Given the description of an element on the screen output the (x, y) to click on. 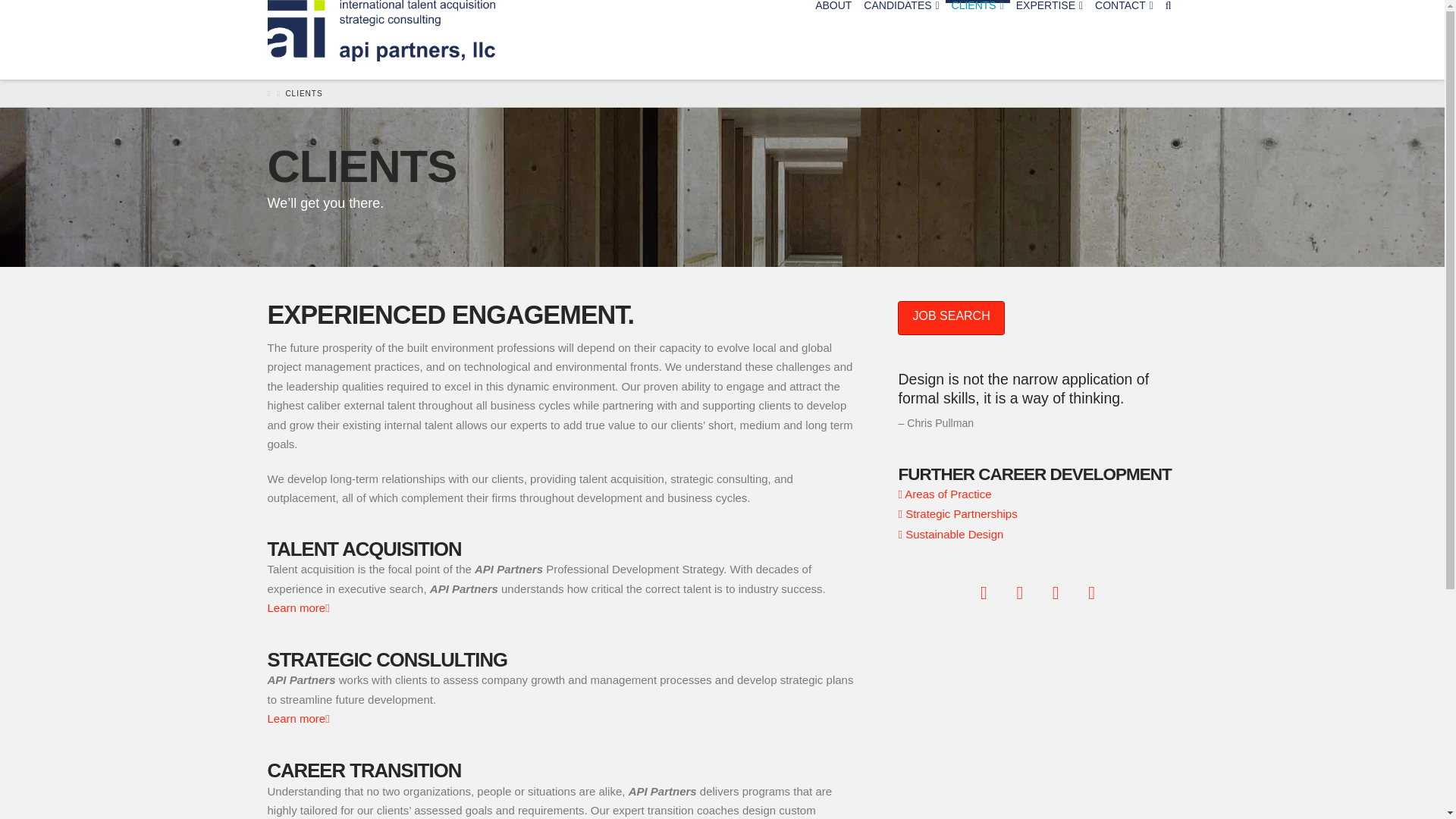
CONTACT (1123, 39)
ABOUT (833, 39)
CANDIDATES (900, 39)
EXPERTISE (1049, 39)
Talent Acquisition for the Built Environment (380, 30)
CLIENTS (977, 39)
